Given the description of an element on the screen output the (x, y) to click on. 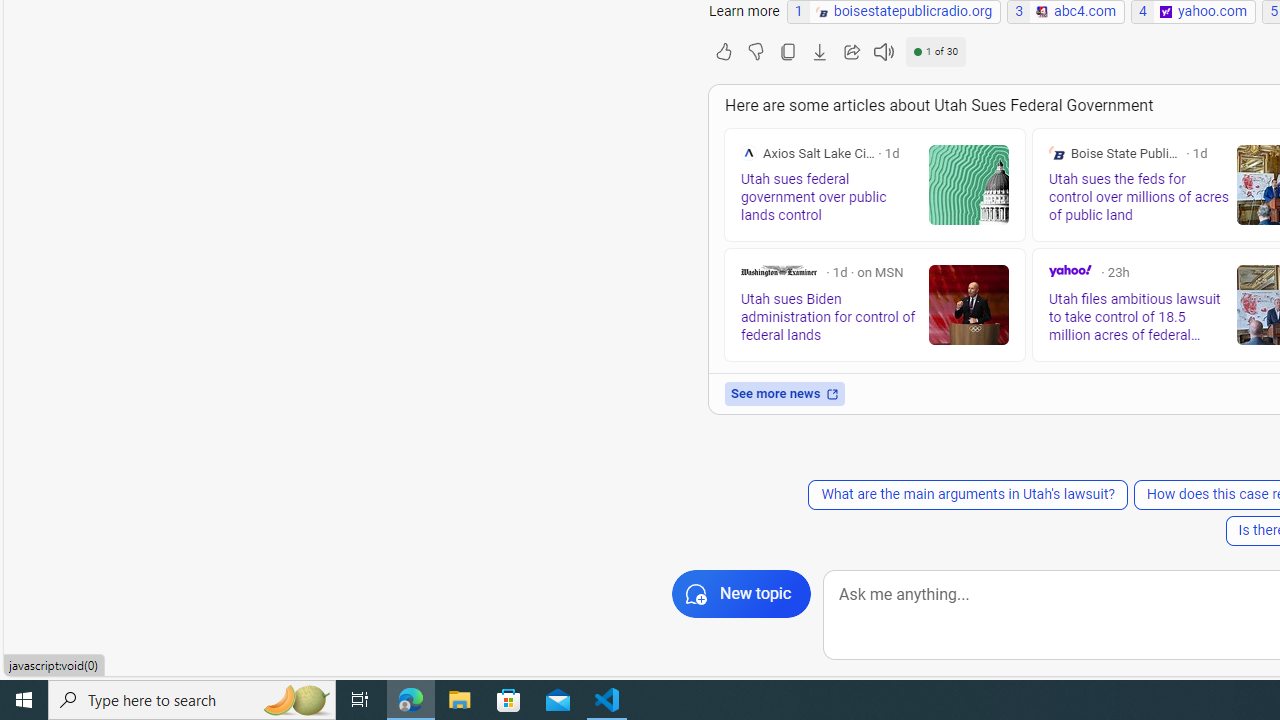
New topic (741, 593)
Yahoo (1070, 270)
Axios Salt Lake City on MSN (748, 152)
Washington Examiner on MSN.com (778, 270)
